Given the description of an element on the screen output the (x, y) to click on. 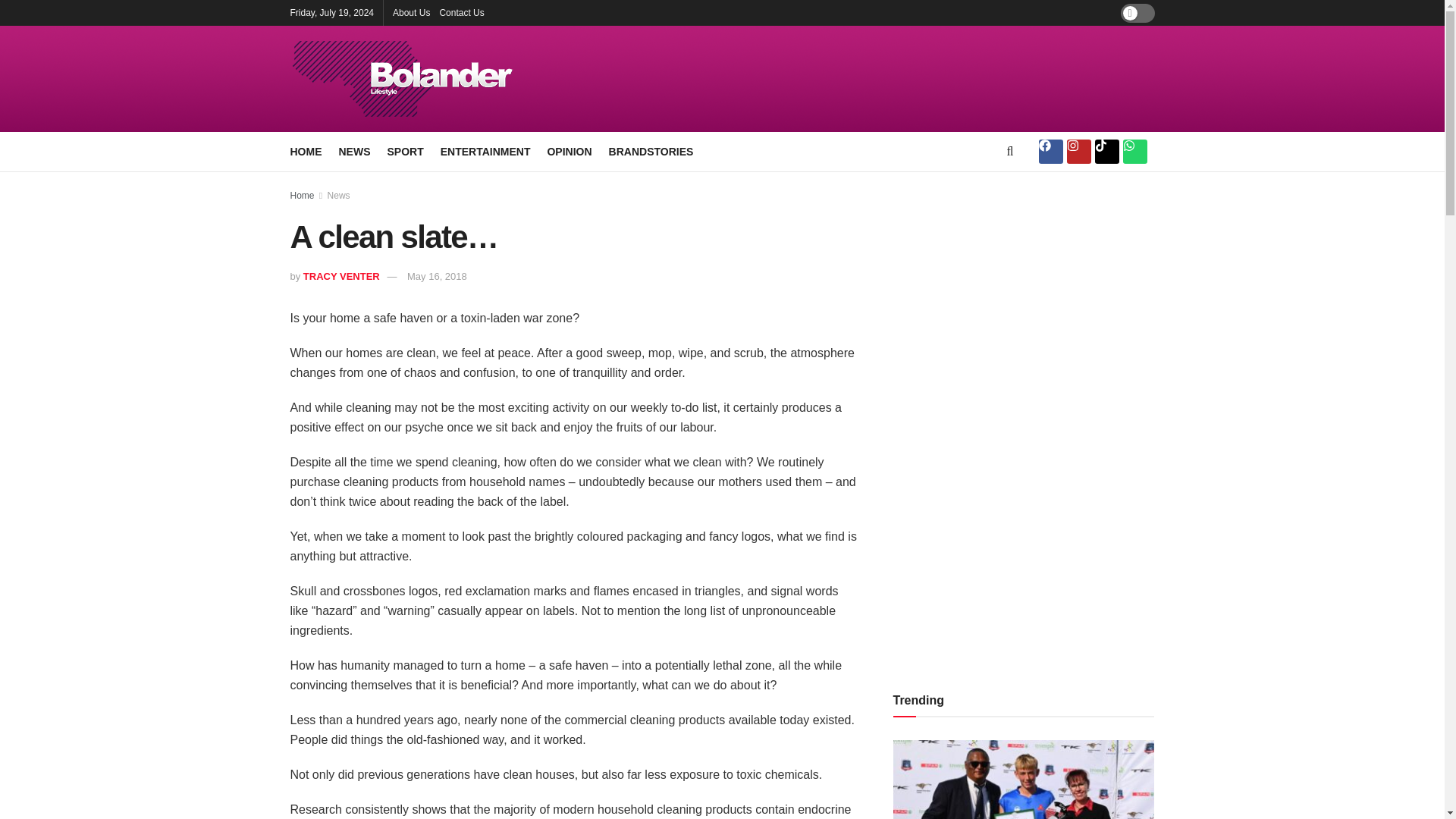
May 16, 2018 (437, 276)
News (338, 195)
SPORT (405, 151)
3rd party ad content (888, 79)
Home (301, 195)
TRACY VENTER (341, 276)
HOME (305, 151)
BRANDSTORIES (651, 151)
NEWS (353, 151)
OPINION (569, 151)
ENTERTAINMENT (486, 151)
About Us (411, 12)
Contact Us (461, 12)
